Given the description of an element on the screen output the (x, y) to click on. 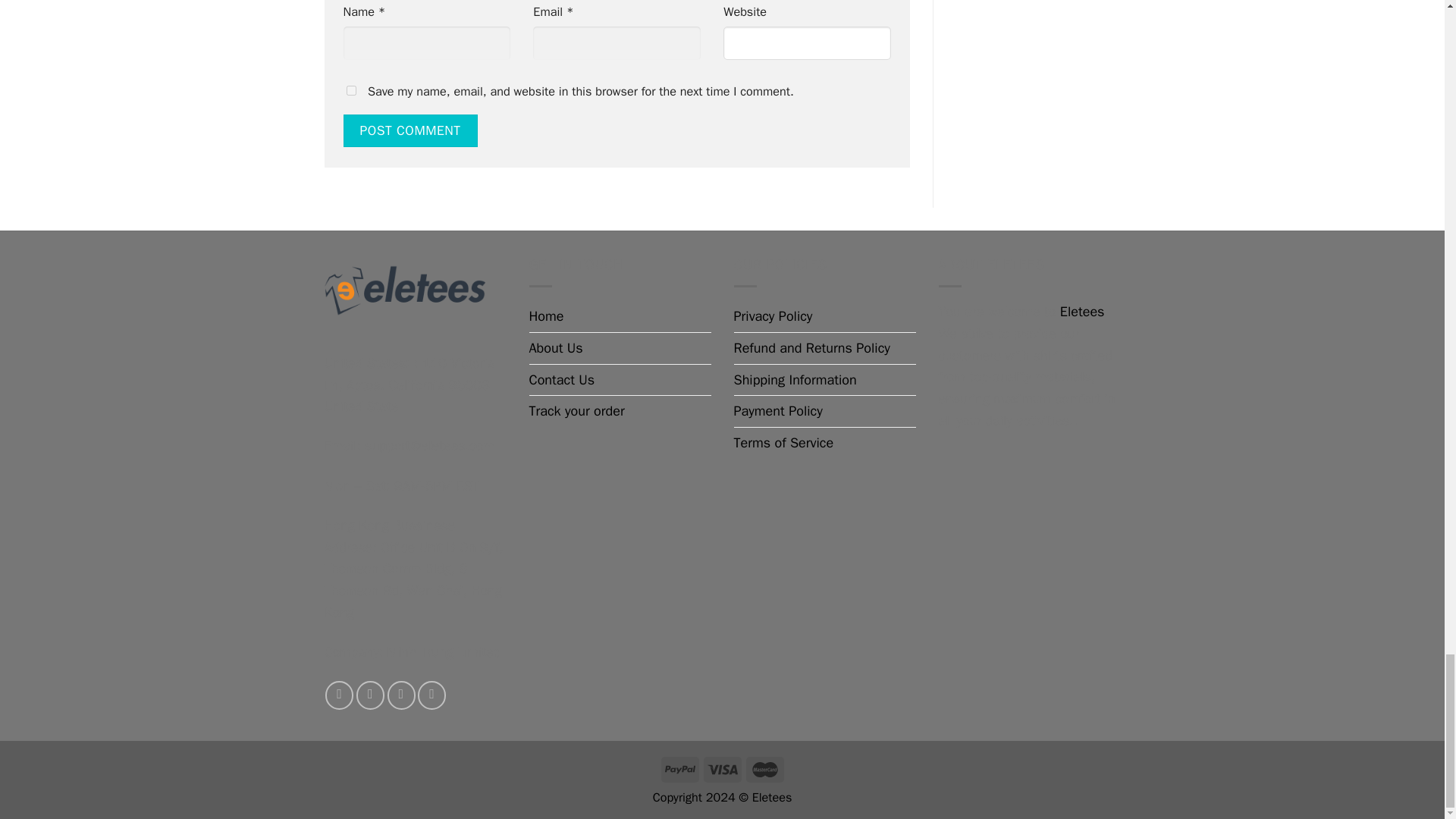
Follow on Facebook (338, 694)
yes (350, 90)
Follow on Pinterest (431, 694)
Send us an email (400, 694)
Follow on Twitter (370, 694)
Post Comment (409, 131)
eletees 12 (404, 293)
